Given the description of an element on the screen output the (x, y) to click on. 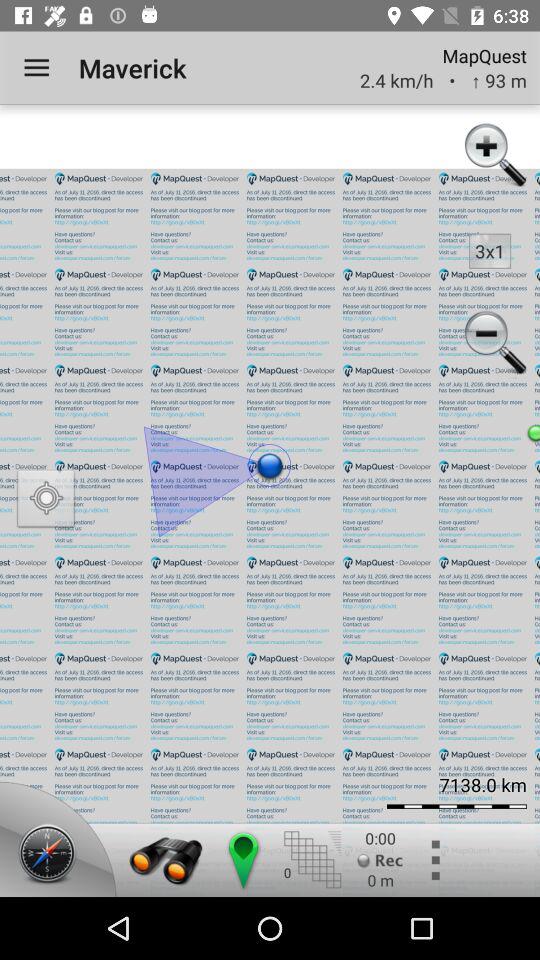
find current position (45, 500)
